Given the description of an element on the screen output the (x, y) to click on. 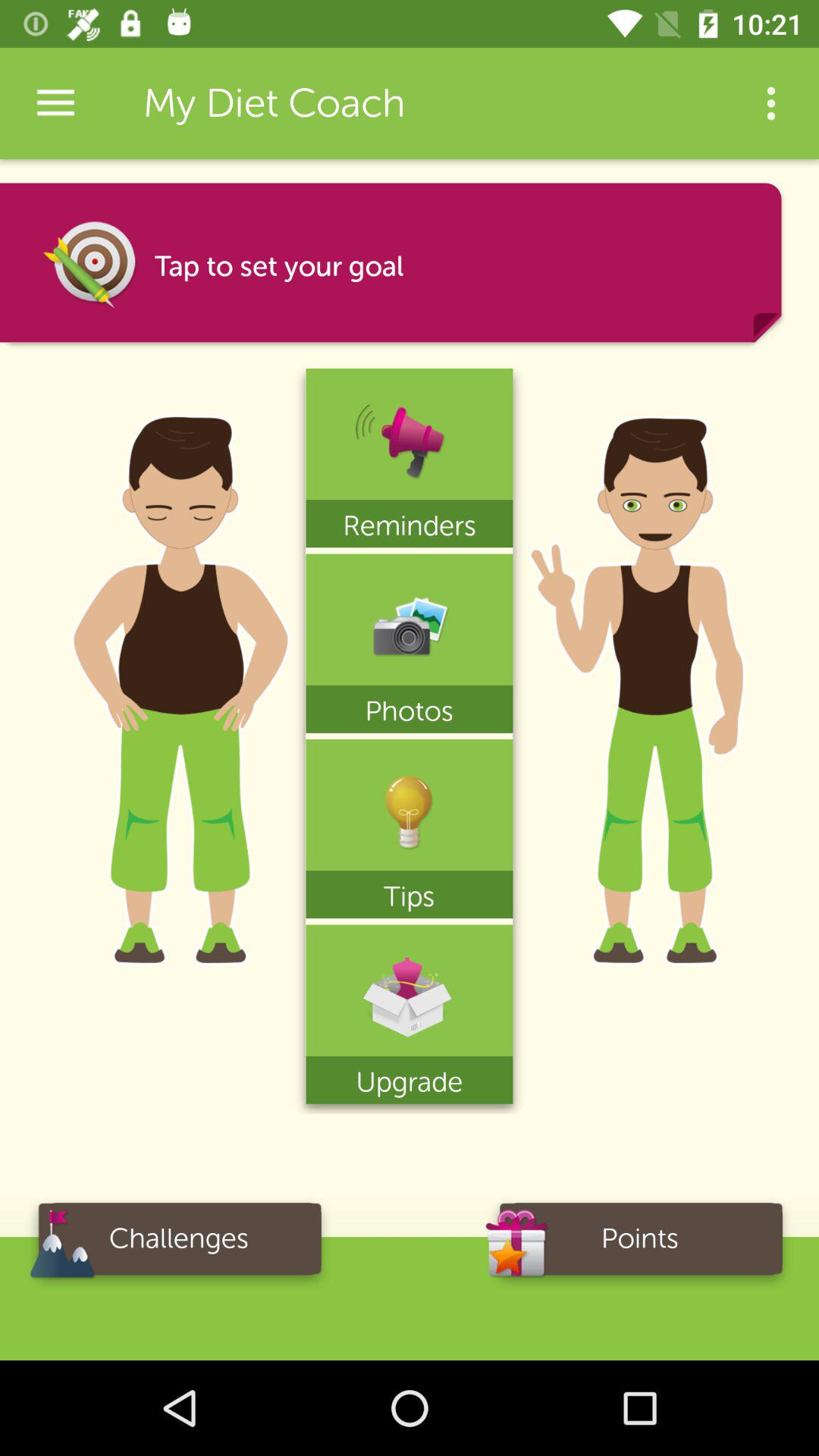
tap icon at the bottom right corner (639, 1243)
